Given the description of an element on the screen output the (x, y) to click on. 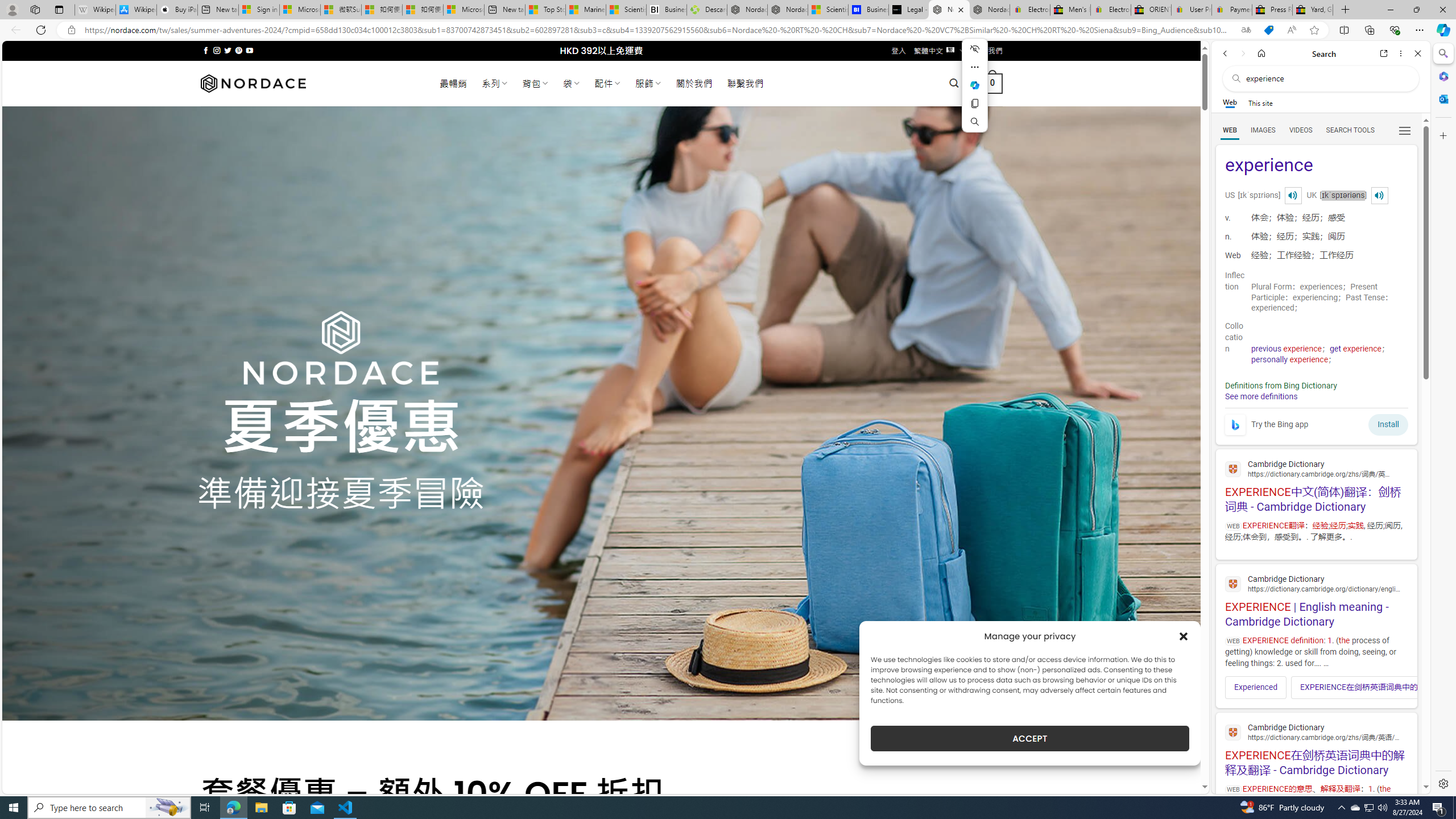
  0   (992, 83)
Follow on Pinterest (237, 50)
EXPERIENCE | English meaning - Cambridge Dictionary (1315, 599)
